Given the description of an element on the screen output the (x, y) to click on. 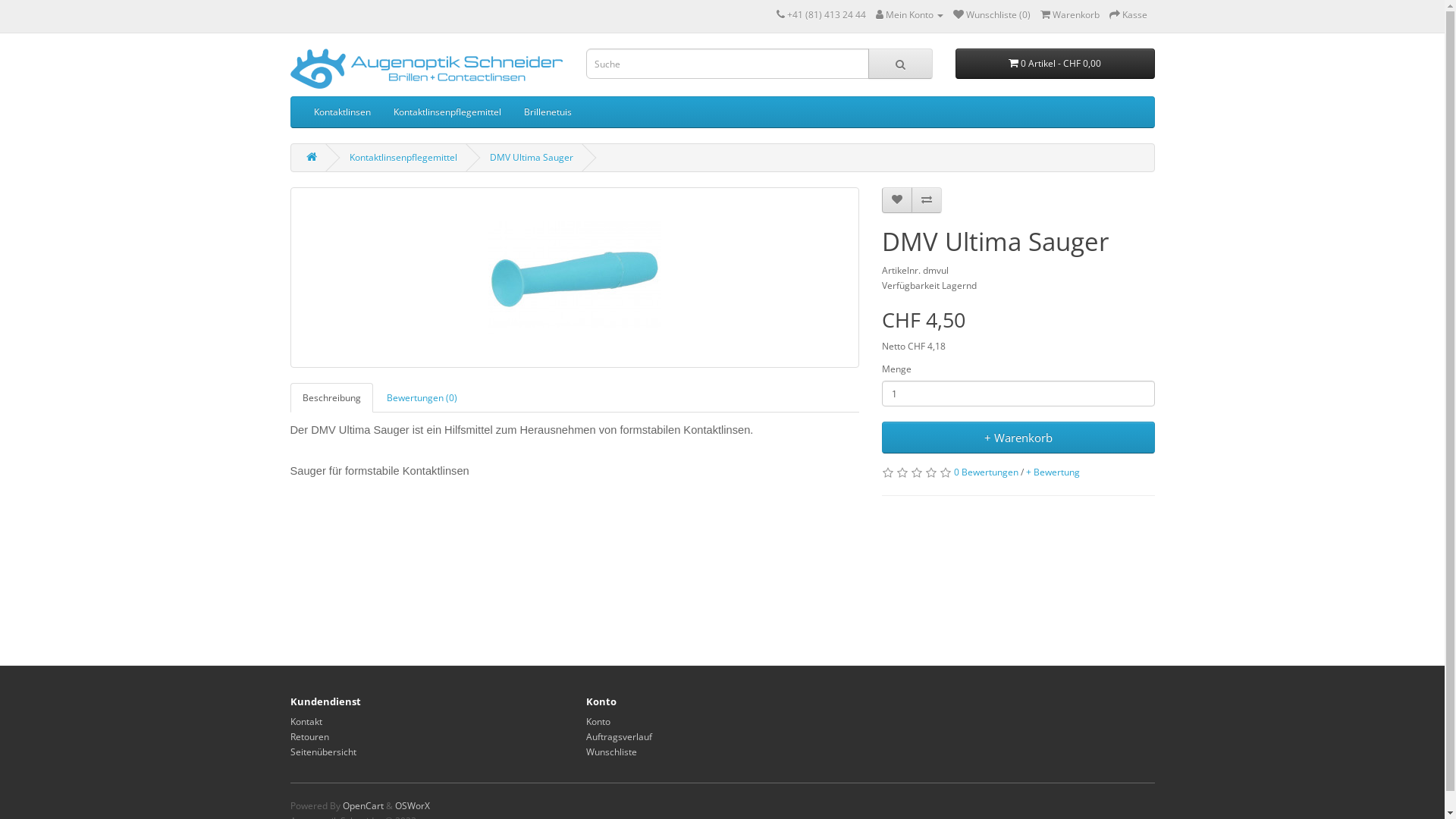
Augenoptik Schneider Element type: hover (425, 68)
Wunschliste (0) Element type: text (990, 14)
+ Bewertung Element type: text (1052, 471)
OSWorX Element type: text (411, 805)
Mein Konto Element type: text (908, 14)
Kontaktlinsen Element type: text (341, 112)
Kontaktlinsenpflegemittel Element type: text (447, 112)
Wunschliste Element type: text (610, 751)
Konto Element type: text (597, 721)
Warenkorb Element type: text (1069, 14)
Kontaktlinsenpflegemittel Element type: text (402, 156)
DMV Ultima Sauger Element type: hover (573, 277)
Kasse Element type: text (1127, 14)
Kontakt Element type: text (305, 721)
Brillenetuis Element type: text (547, 112)
Bewertungen (0) Element type: text (421, 397)
0 Artikel - CHF 0,00 Element type: text (1054, 63)
OpenCart Element type: text (362, 805)
Beschreibung Element type: text (330, 397)
0 Bewertungen Element type: text (985, 471)
DMV Ultima Sauger Element type: hover (574, 277)
Auftragsverlauf Element type: text (618, 736)
+ Warenkorb Element type: text (1017, 437)
DMV Ultima Sauger Element type: text (531, 156)
Retouren Element type: text (308, 736)
